Given the description of an element on the screen output the (x, y) to click on. 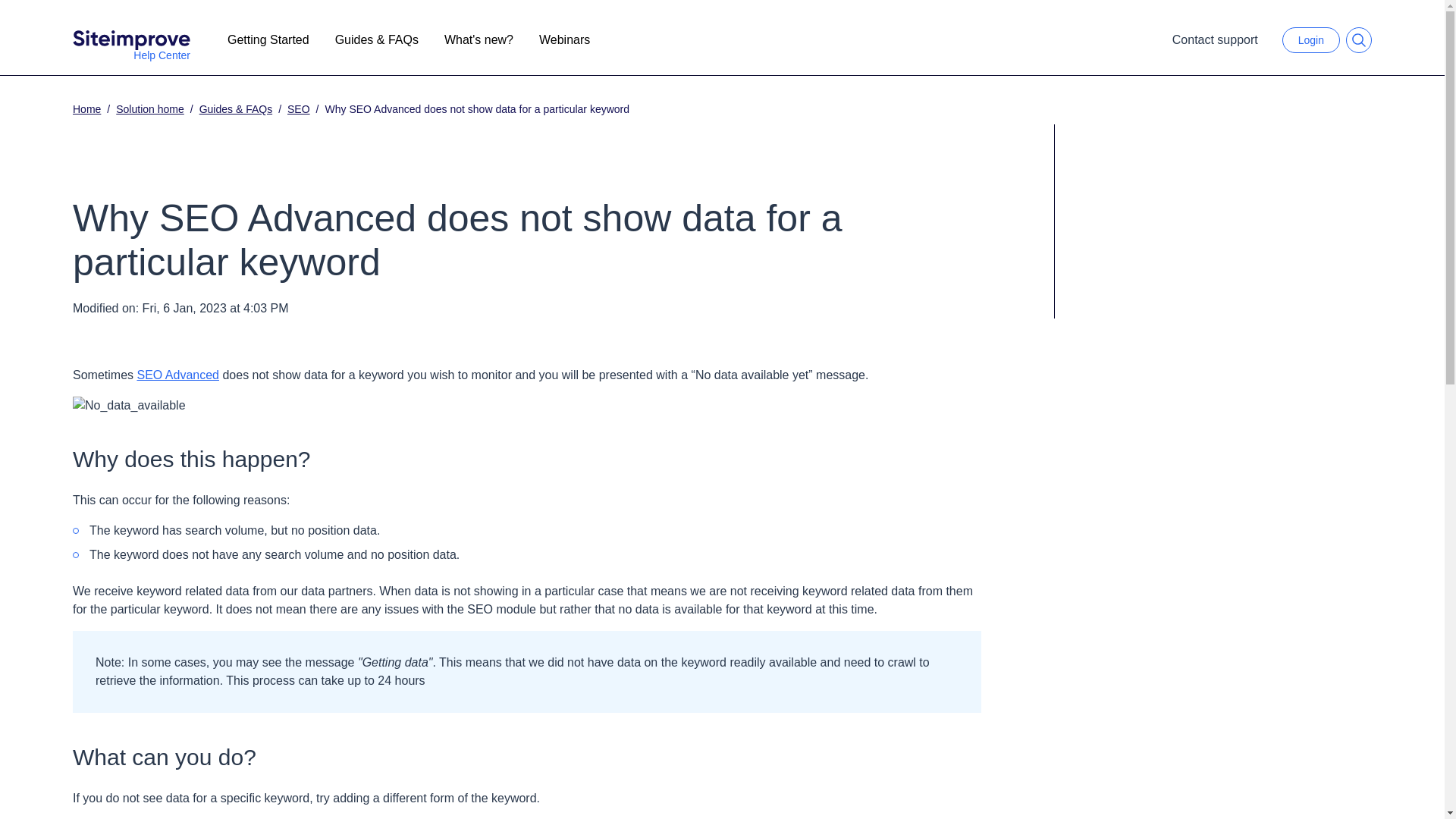
Contact support (1214, 40)
Login (1310, 40)
SEO Advanced (177, 374)
What's new? (477, 39)
Solution home (150, 109)
Getting Started (267, 39)
Webinars (563, 39)
SEO (298, 109)
Help Center (131, 40)
Home (86, 109)
